Given the description of an element on the screen output the (x, y) to click on. 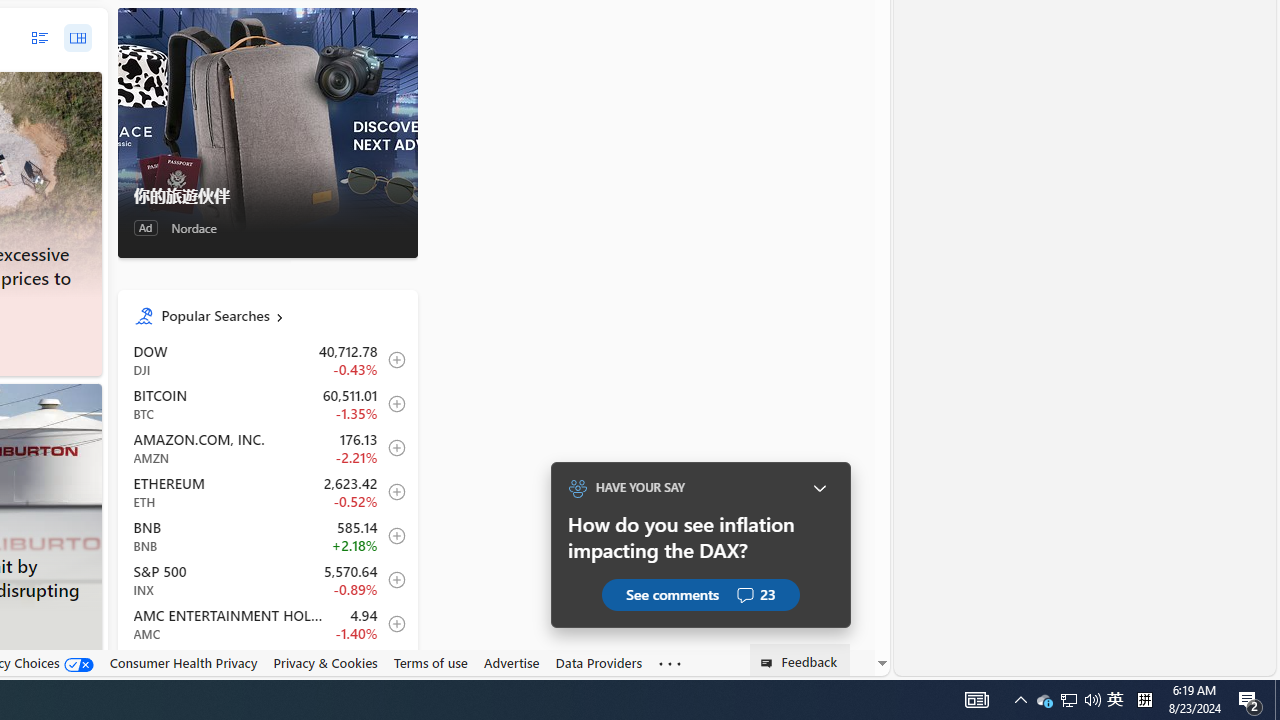
BTC Bitcoin decrease 60,511.01 -814.48 -1.35% itemundefined (267, 404)
Data Providers (598, 662)
Class: feedback_link_icon-DS-EntryPoint1-1 (770, 663)
DJI DOW decrease 40,712.78 -177.71 -0.43% itemundefined (267, 359)
INX S&P 500 decrease 5,570.64 -50.21 -0.89% itemundefined (267, 579)
